Given the description of an element on the screen output the (x, y) to click on. 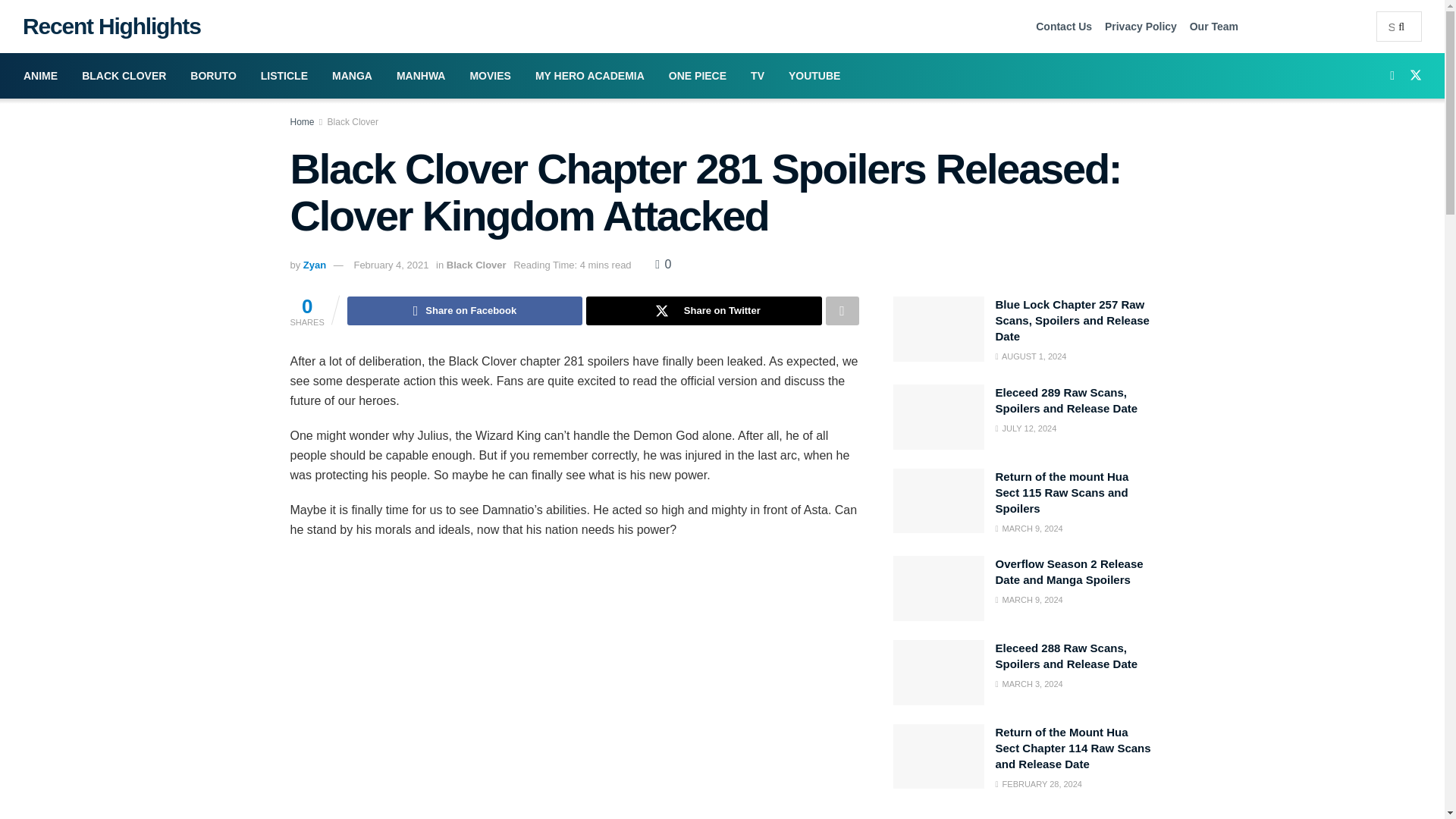
MANGA (352, 75)
MOVIES (489, 75)
MANHWA (421, 75)
Home (301, 122)
Black Clover (352, 122)
Zyan (314, 265)
MY HERO ACADEMIA (589, 75)
BORUTO (212, 75)
Privacy Policy (1140, 26)
ANIME (40, 75)
